Given the description of an element on the screen output the (x, y) to click on. 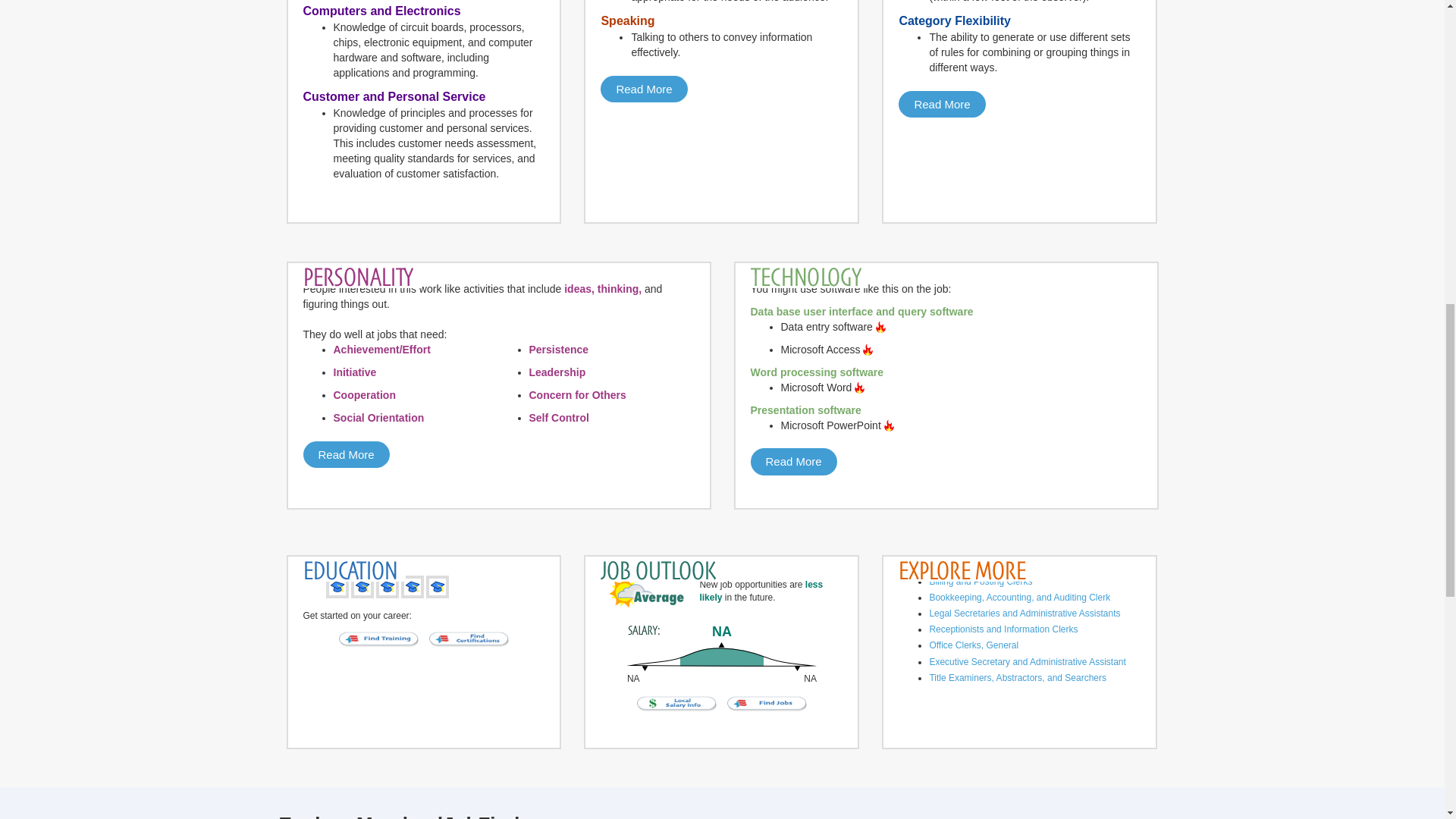
Find certifications (468, 638)
Find training programs (379, 638)
See local salary information (678, 702)
Find jobs for this career (766, 702)
